Given the description of an element on the screen output the (x, y) to click on. 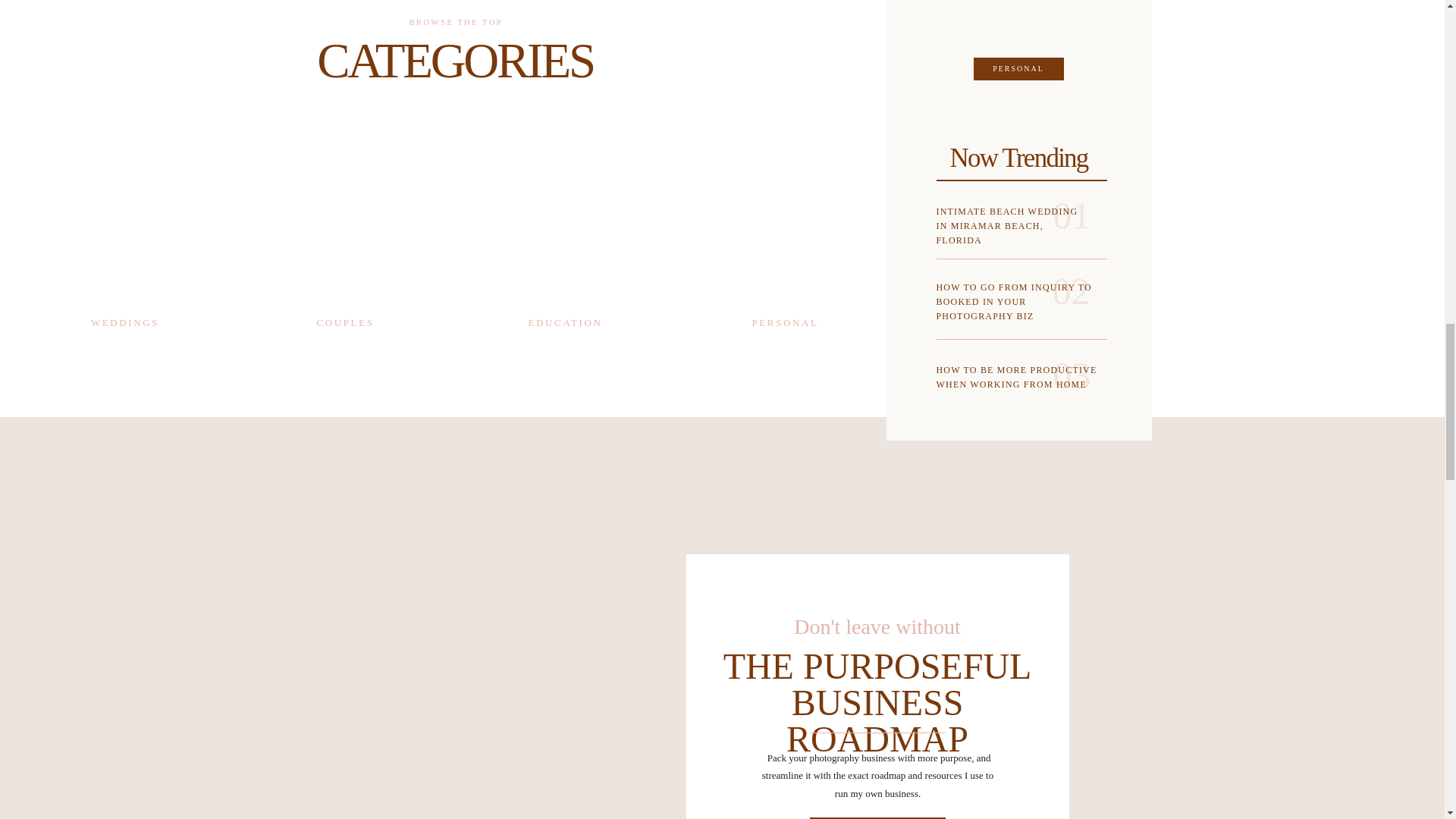
PERSONAL (1018, 69)
HOW TO GO FROM INQUIRY TO BOOKED IN YOUR PHOTOGRAPHY BIZ (1016, 303)
Now Trending (1018, 154)
HOW TO BE MORE PRODUCTIVE WHEN WORKING FROM HOME (1016, 393)
INTIMATE BEACH WEDDING IN MIRAMAR BEACH, FLORIDA (1012, 224)
